Given the description of an element on the screen output the (x, y) to click on. 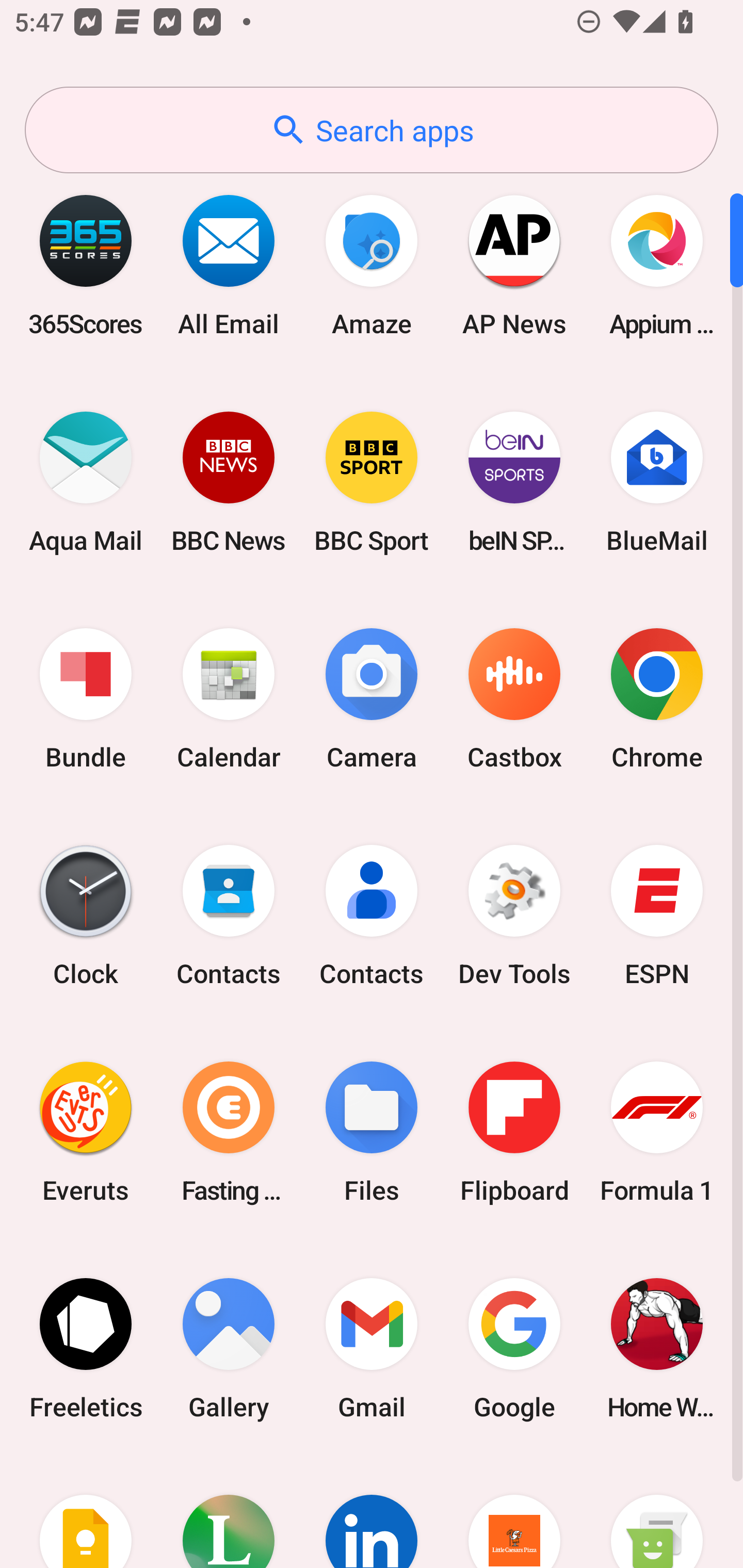
  Search apps (371, 130)
365Scores (85, 264)
All Email (228, 264)
Amaze (371, 264)
AP News (514, 264)
Appium Settings (656, 264)
Aqua Mail (85, 482)
BBC News (228, 482)
BBC Sport (371, 482)
beIN SPORTS (514, 482)
BlueMail (656, 482)
Bundle (85, 699)
Calendar (228, 699)
Camera (371, 699)
Castbox (514, 699)
Chrome (656, 699)
Clock (85, 915)
Contacts (228, 915)
Contacts (371, 915)
Dev Tools (514, 915)
ESPN (656, 915)
Everuts (85, 1131)
Fasting Coach (228, 1131)
Files (371, 1131)
Flipboard (514, 1131)
Formula 1 (656, 1131)
Freeletics (85, 1348)
Gallery (228, 1348)
Gmail (371, 1348)
Google (514, 1348)
Home Workout (656, 1348)
Keep Notes (85, 1512)
Lifesum (228, 1512)
LinkedIn (371, 1512)
Little Caesars Pizza (514, 1512)
Messaging (656, 1512)
